Given the description of an element on the screen output the (x, y) to click on. 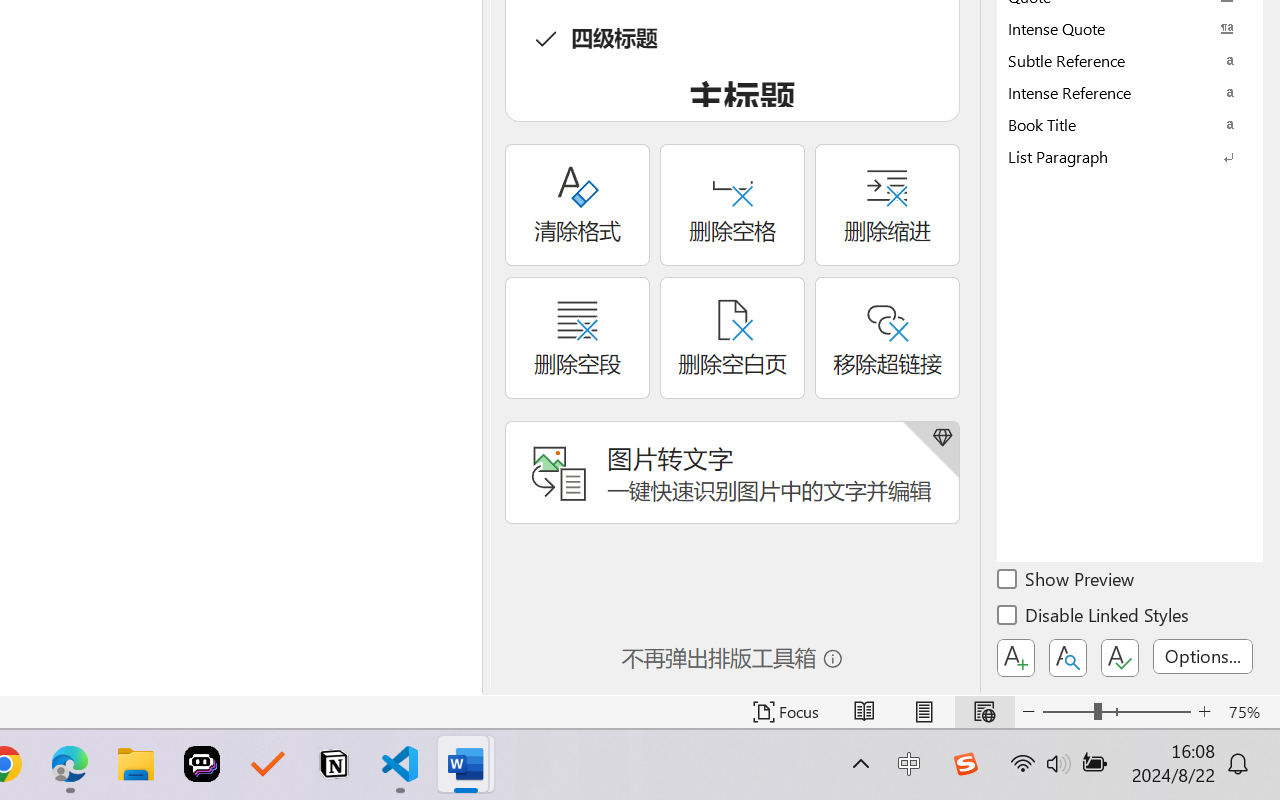
Zoom Out (1067, 712)
Class: Image (965, 764)
Web Layout (984, 712)
Subtle Reference (1130, 60)
Book Title (1130, 124)
Focus  (786, 712)
Zoom In (1204, 712)
Class: NetUIButton (1119, 657)
